Given the description of an element on the screen output the (x, y) to click on. 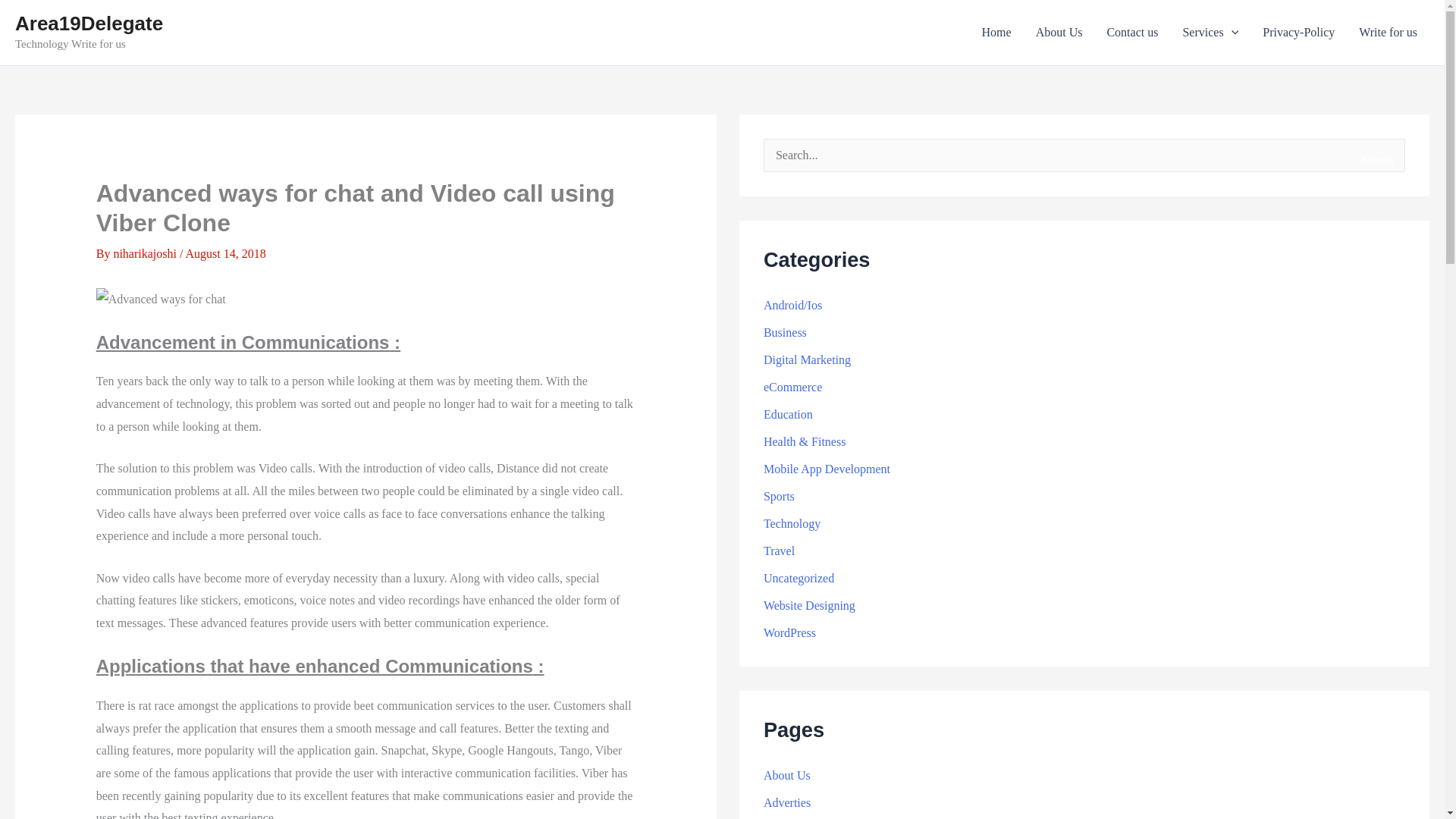
About Us (1058, 32)
Digital Marketing (806, 359)
Write for us (1387, 32)
Business (784, 332)
Search (1376, 159)
Education (787, 413)
Area19Delegate (88, 23)
Contact us (1132, 32)
niharikajoshi (146, 253)
Privacy-Policy (1298, 32)
